Given the description of an element on the screen output the (x, y) to click on. 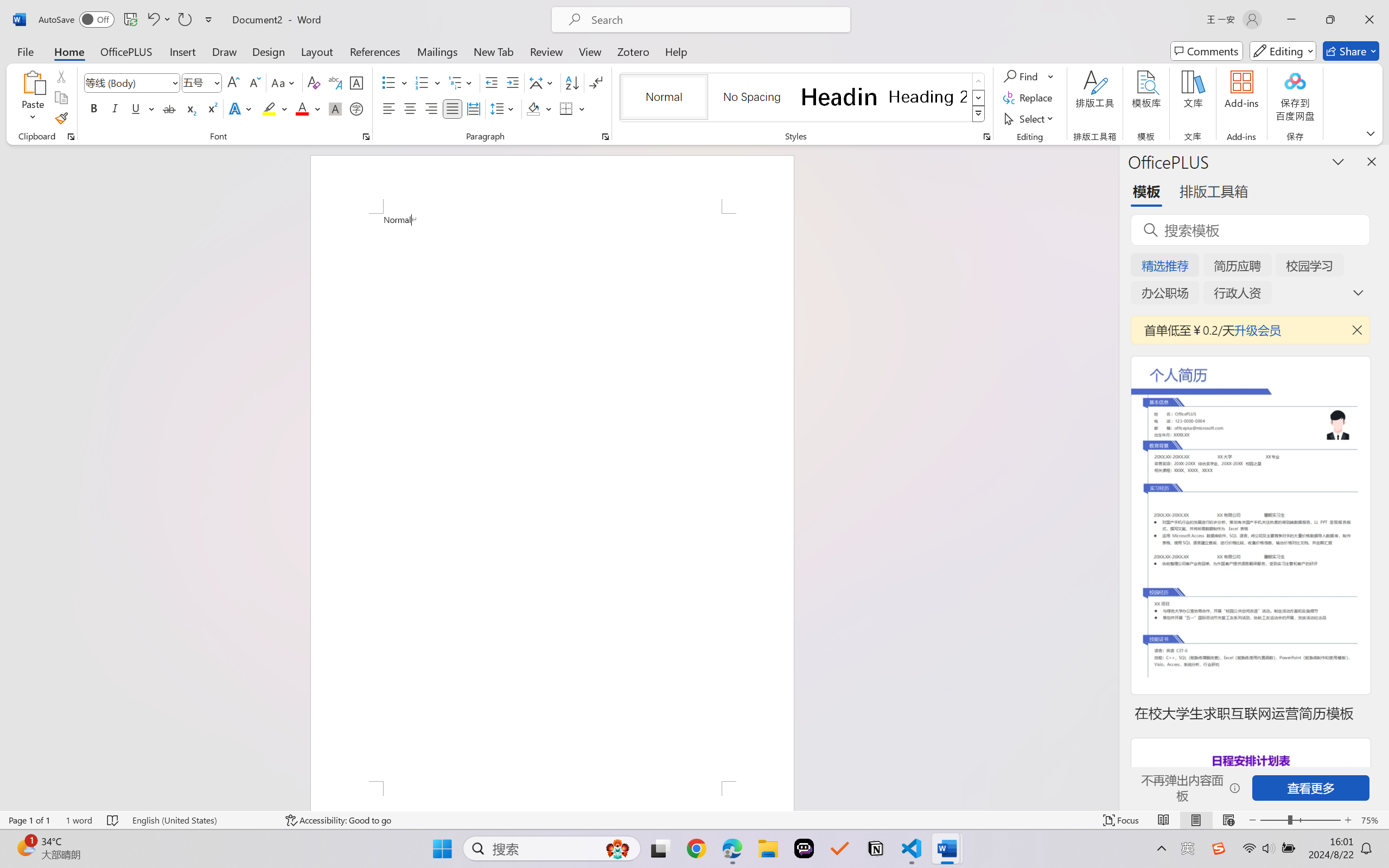
Shading (539, 108)
References (375, 51)
Draw (224, 51)
Class: NetUIImage (978, 114)
Borders (566, 108)
Font (126, 82)
Office Clipboard... (70, 136)
AutomationID: BadgeAnchorLargeTicker (24, 847)
Mailings (437, 51)
Class: MsoCommandBar (694, 819)
Class: NetUIScrollBar (1111, 477)
Zoom (1300, 819)
Copy (60, 97)
